Given the description of an element on the screen output the (x, y) to click on. 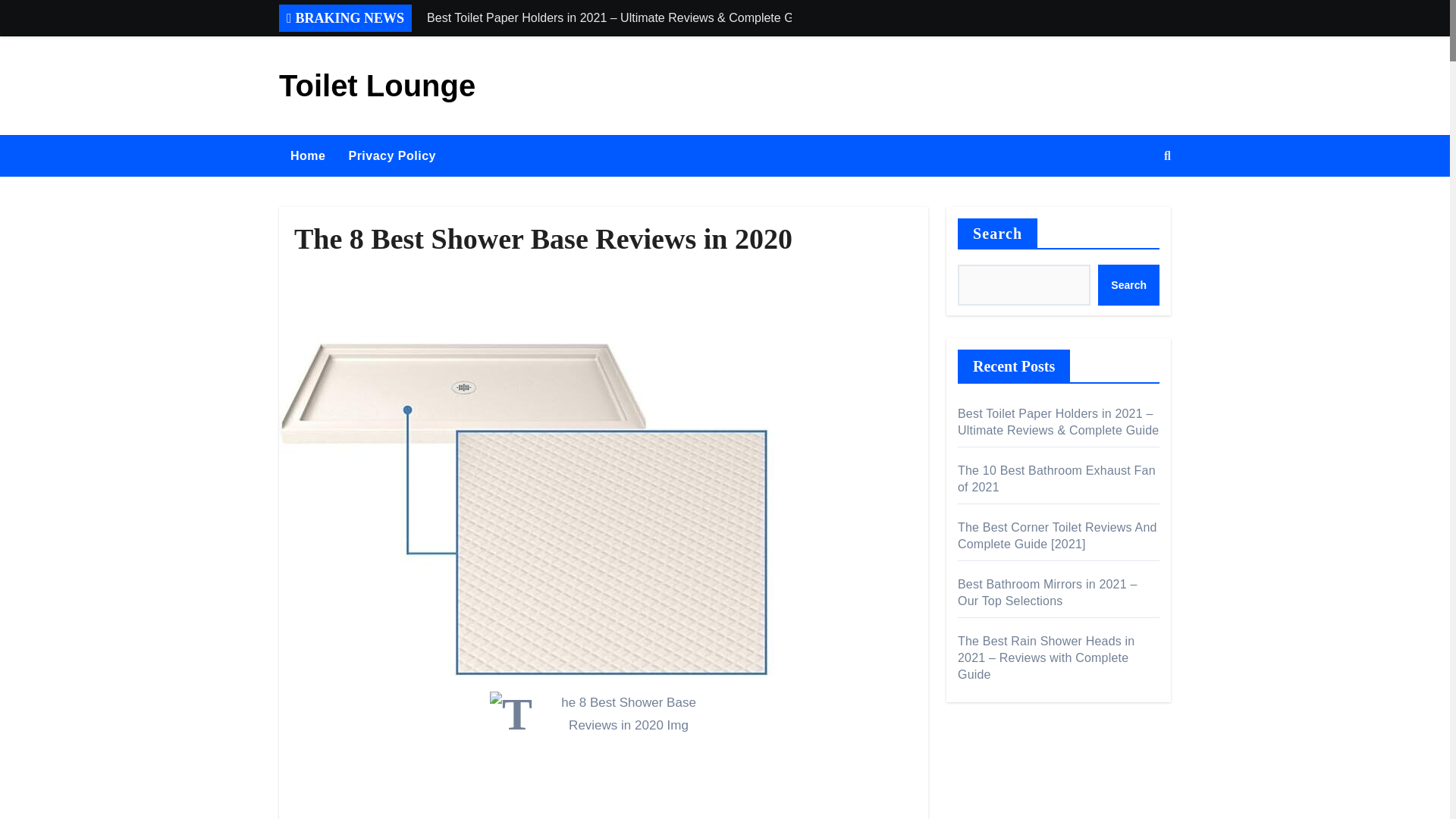
Toilet Lounge (377, 85)
Home (307, 155)
Privacy Policy (391, 155)
Home (307, 155)
